Given the description of an element on the screen output the (x, y) to click on. 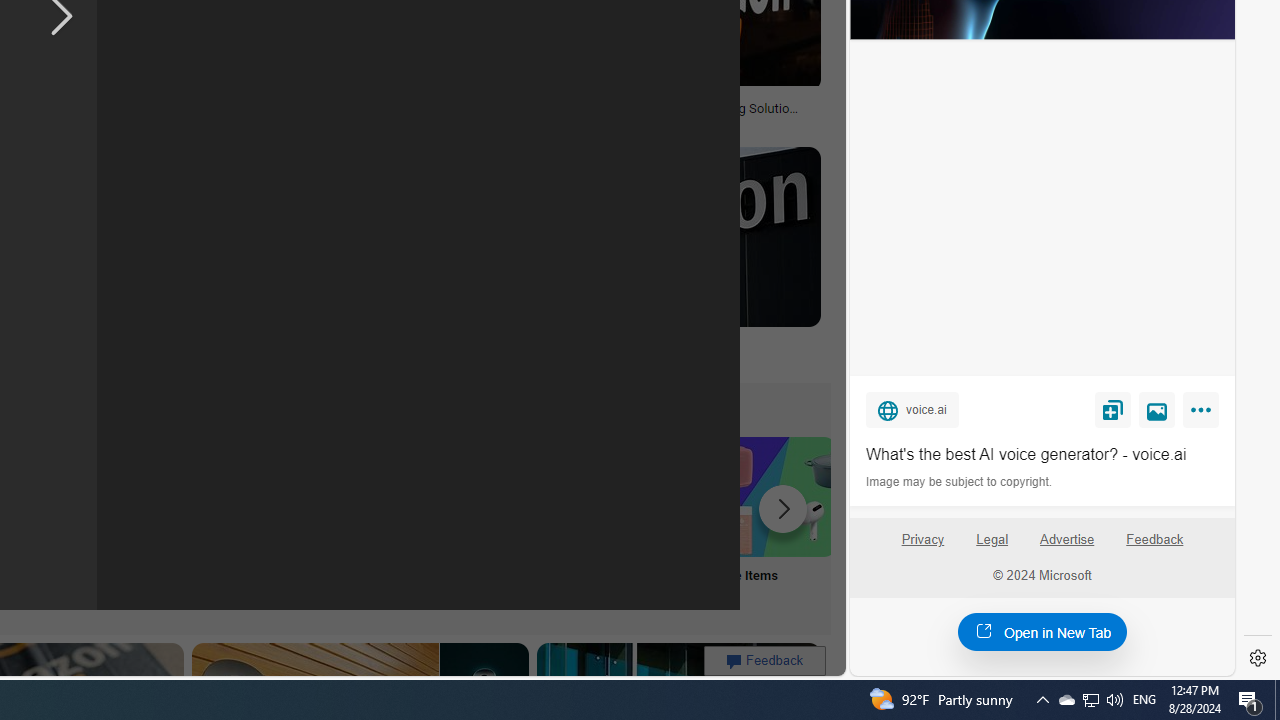
Amazon (536, 343)
Amazon Mini TV Mini TV (116, 521)
Prime Label (511, 521)
Advertise (1067, 547)
mobilemarketingmagazine.com (651, 123)
3d illustration of amazon logo 18779928 PNG (371, 114)
View image (1157, 409)
Image result for amazon (662, 236)
More (1204, 413)
Settings (1258, 658)
Amazon Online Shopping Homepage (248, 496)
protothema.gr (554, 358)
vecteezy.com (371, 123)
Amazon Prime Shopping Online (380, 496)
Amazon Sale Items (775, 496)
